Given the description of an element on the screen output the (x, y) to click on. 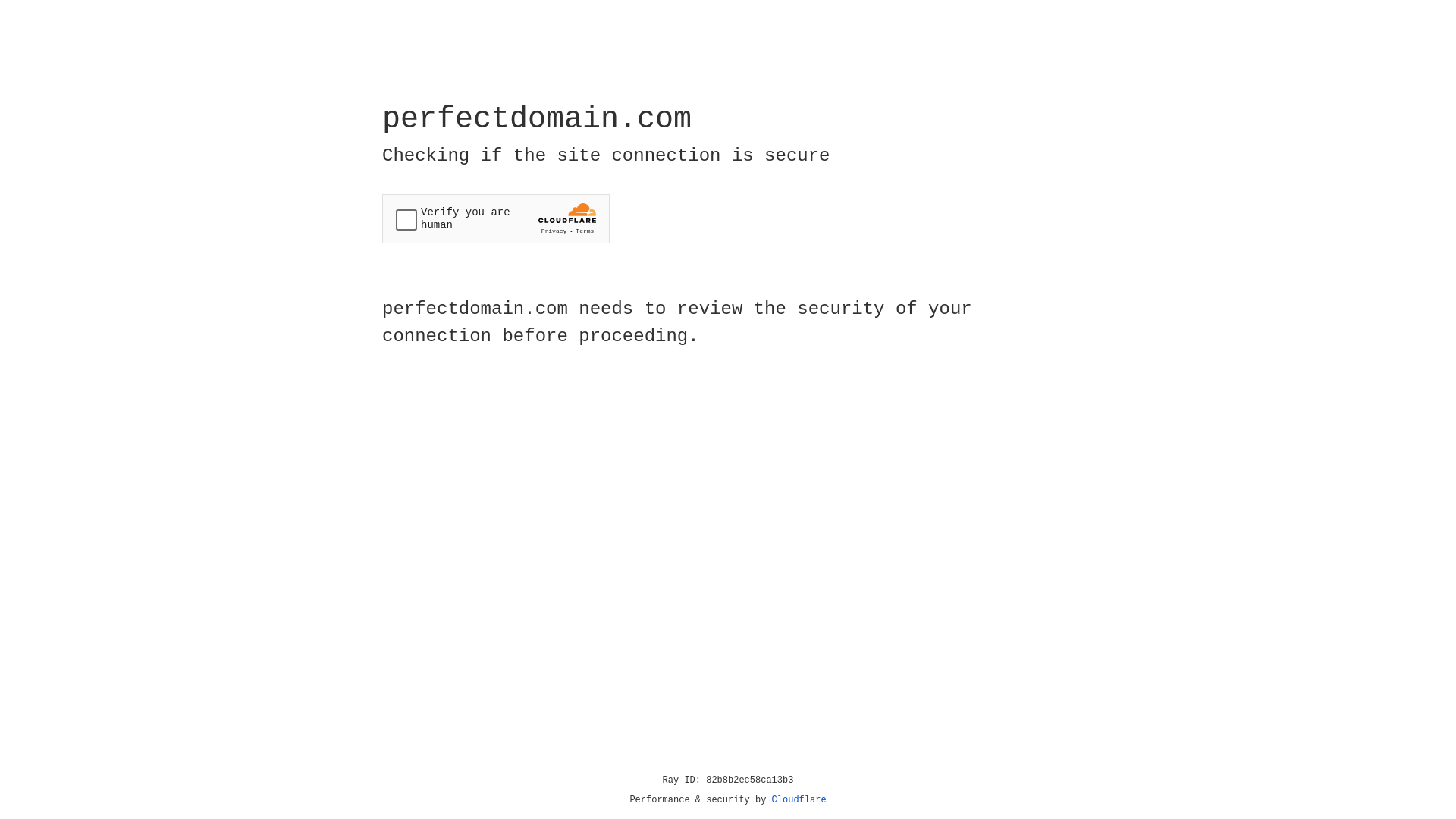
Widget containing a Cloudflare security challenge Element type: hover (495, 218)
Cloudflare Element type: text (798, 799)
